Given the description of an element on the screen output the (x, y) to click on. 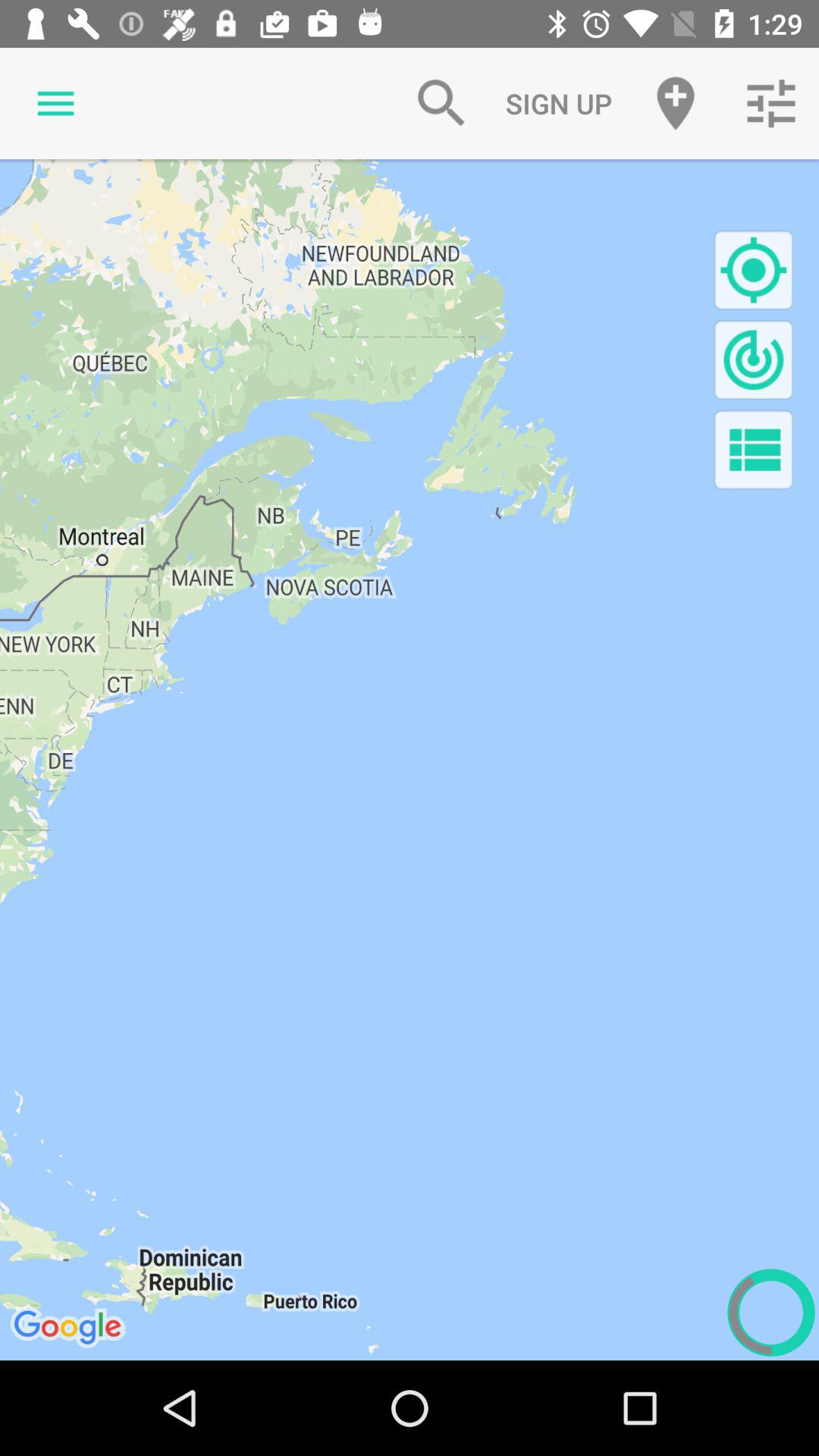
show elements in a list (753, 449)
